Given the description of an element on the screen output the (x, y) to click on. 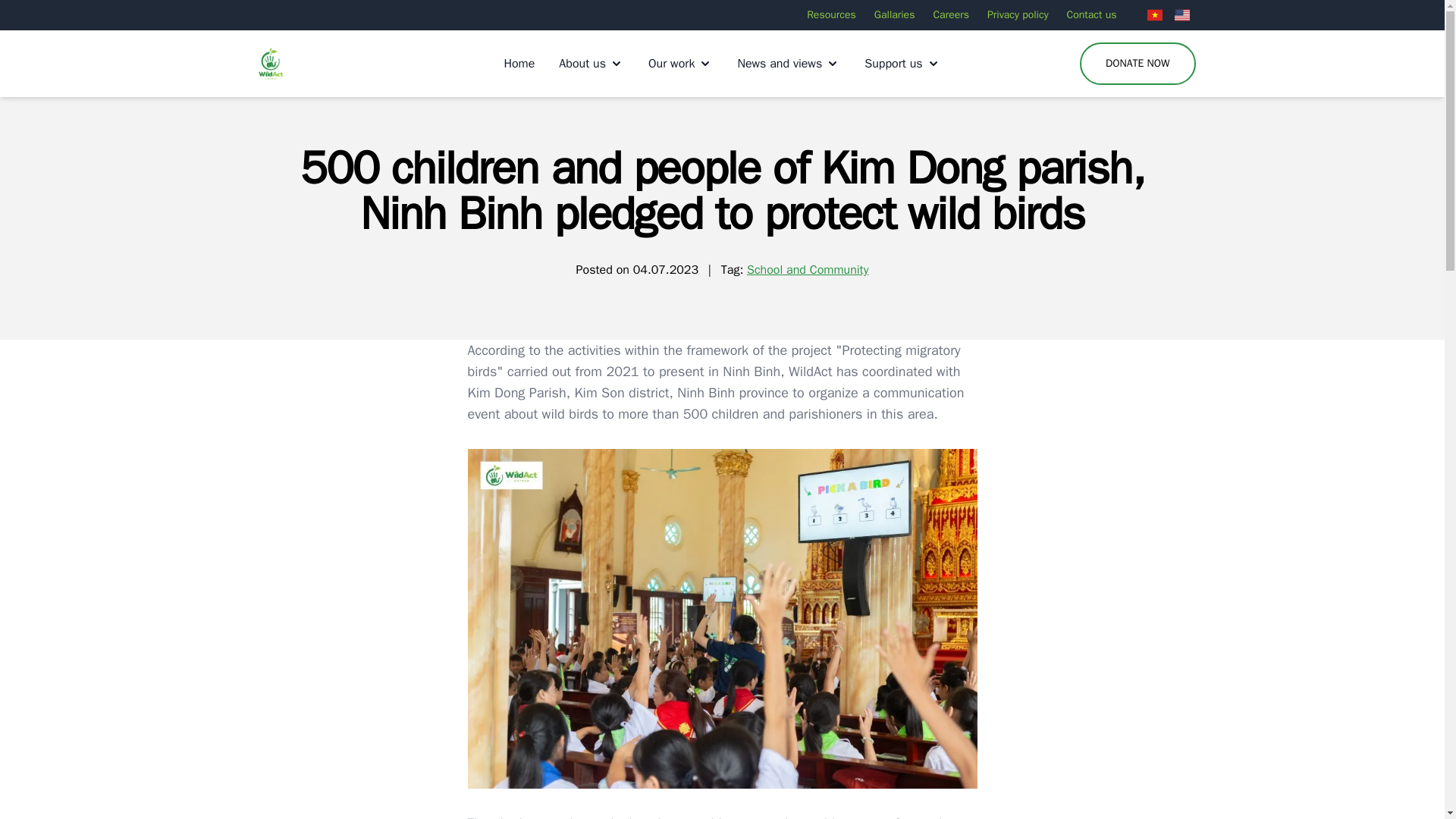
Privacy policy (1017, 14)
About us (591, 63)
News and views (788, 63)
Support us (902, 63)
Resources (831, 14)
DONATE NOW (1137, 63)
Our work (680, 63)
Careers (951, 14)
Contact us (1091, 14)
Gallaries (895, 14)
DONATE NOW (1137, 62)
Home (518, 63)
